Given the description of an element on the screen output the (x, y) to click on. 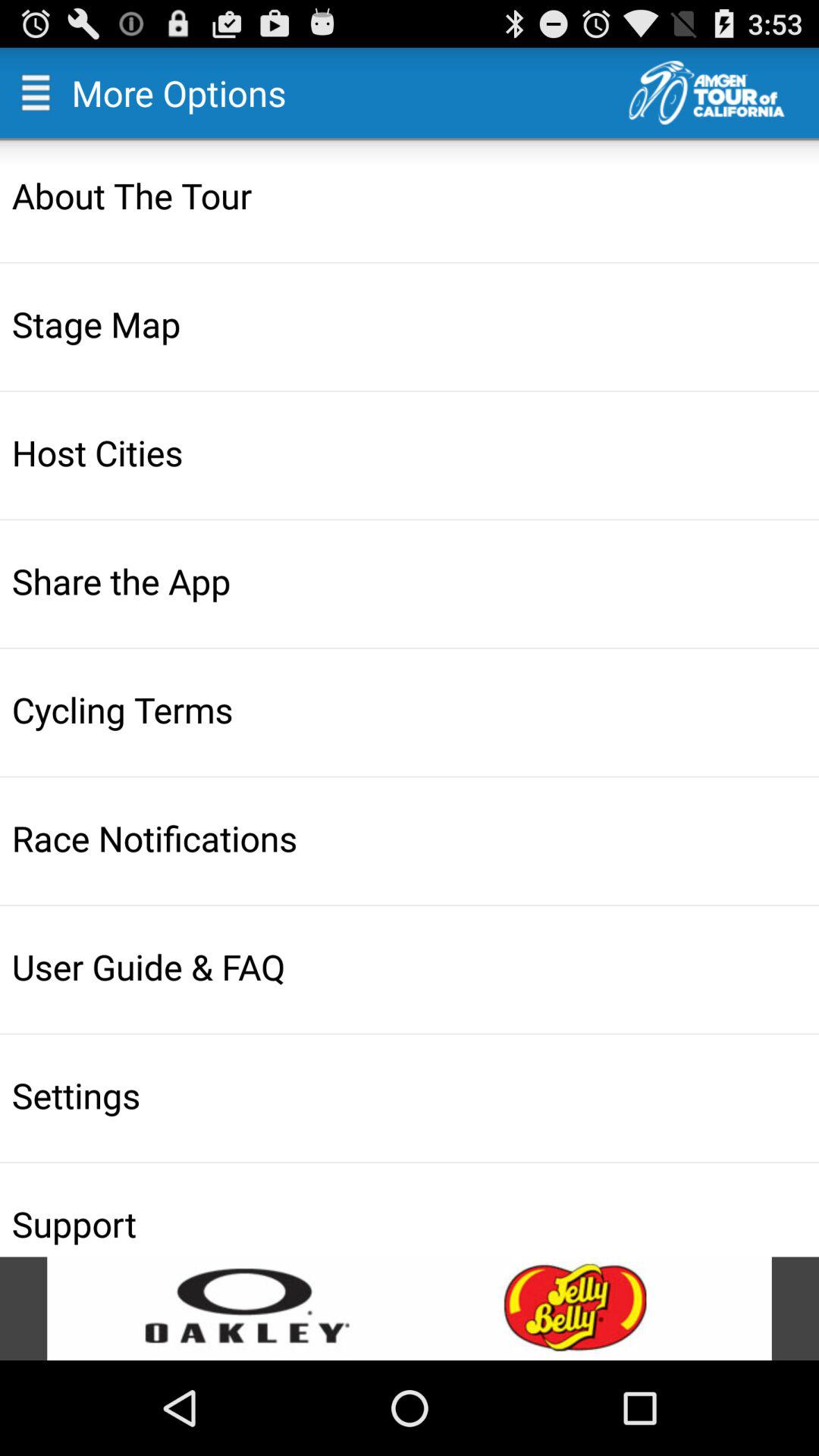
open advertisement (409, 1308)
